Given the description of an element on the screen output the (x, y) to click on. 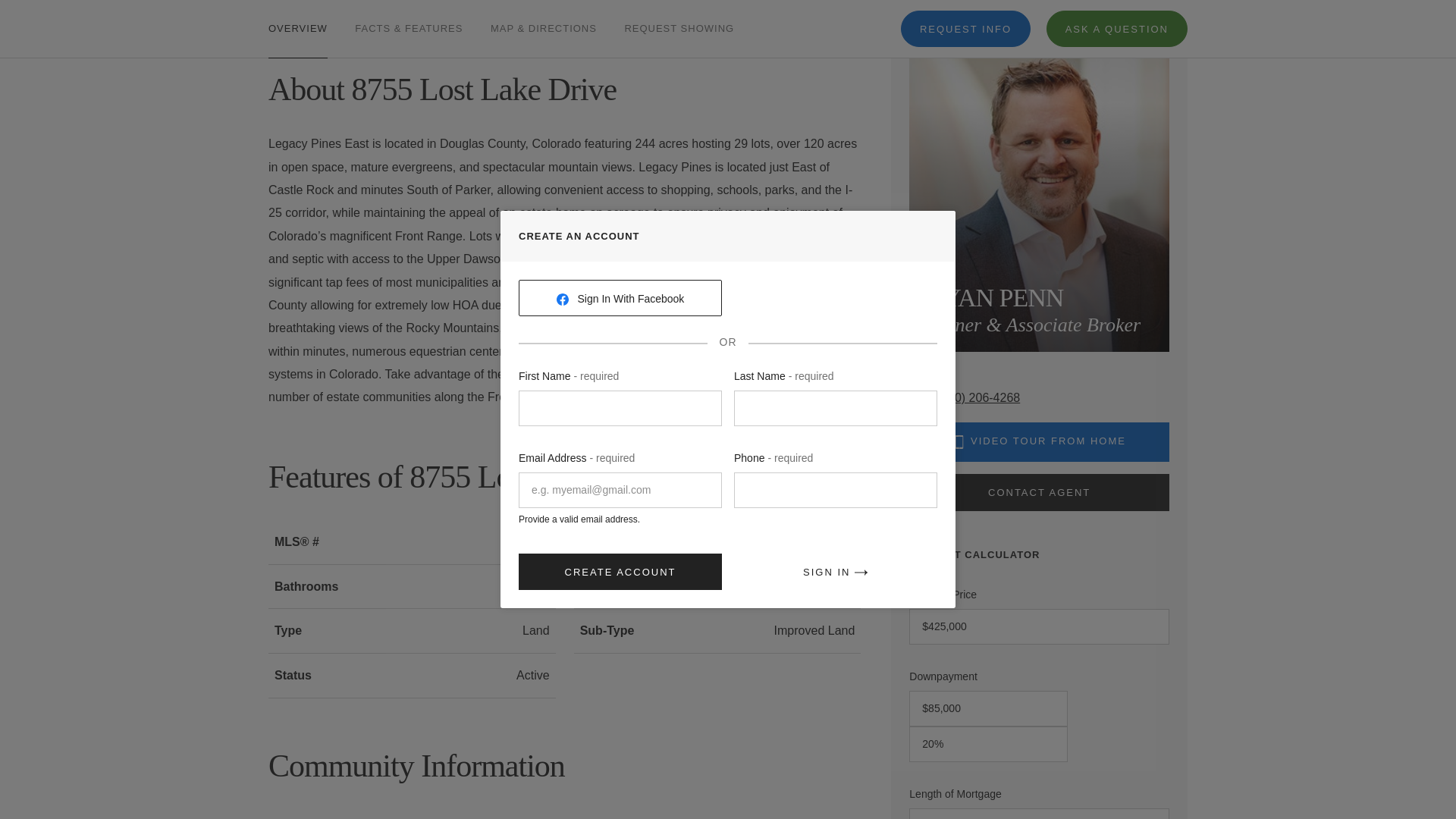
OVERVIEW (297, 10)
REQUEST INFO (965, 5)
ASK A QUESTION (1117, 5)
MOBILE ICON (959, 441)
REQUEST SHOWING (678, 10)
